Given the description of an element on the screen output the (x, y) to click on. 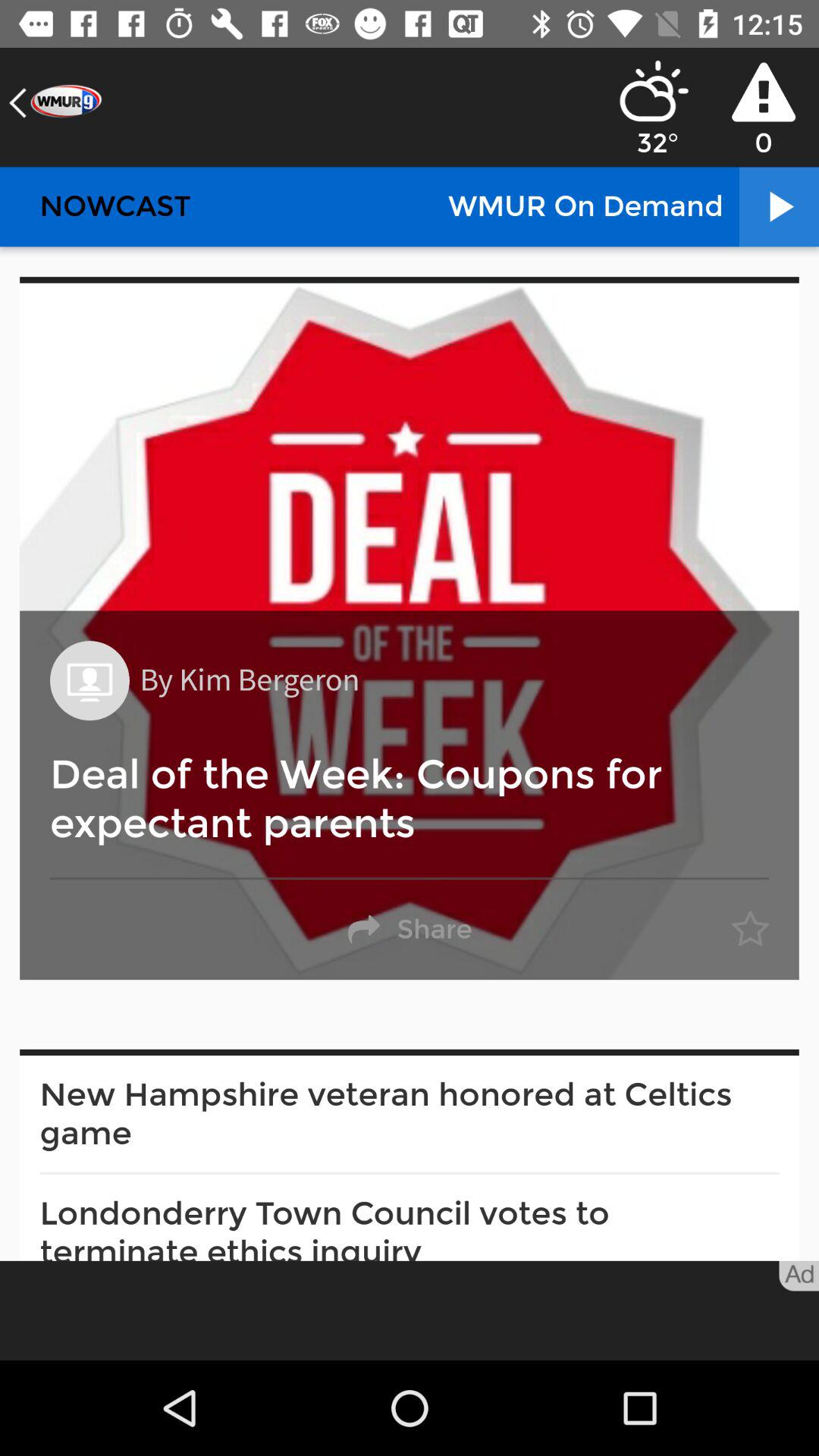
launch item on the right (750, 929)
